Given the description of an element on the screen output the (x, y) to click on. 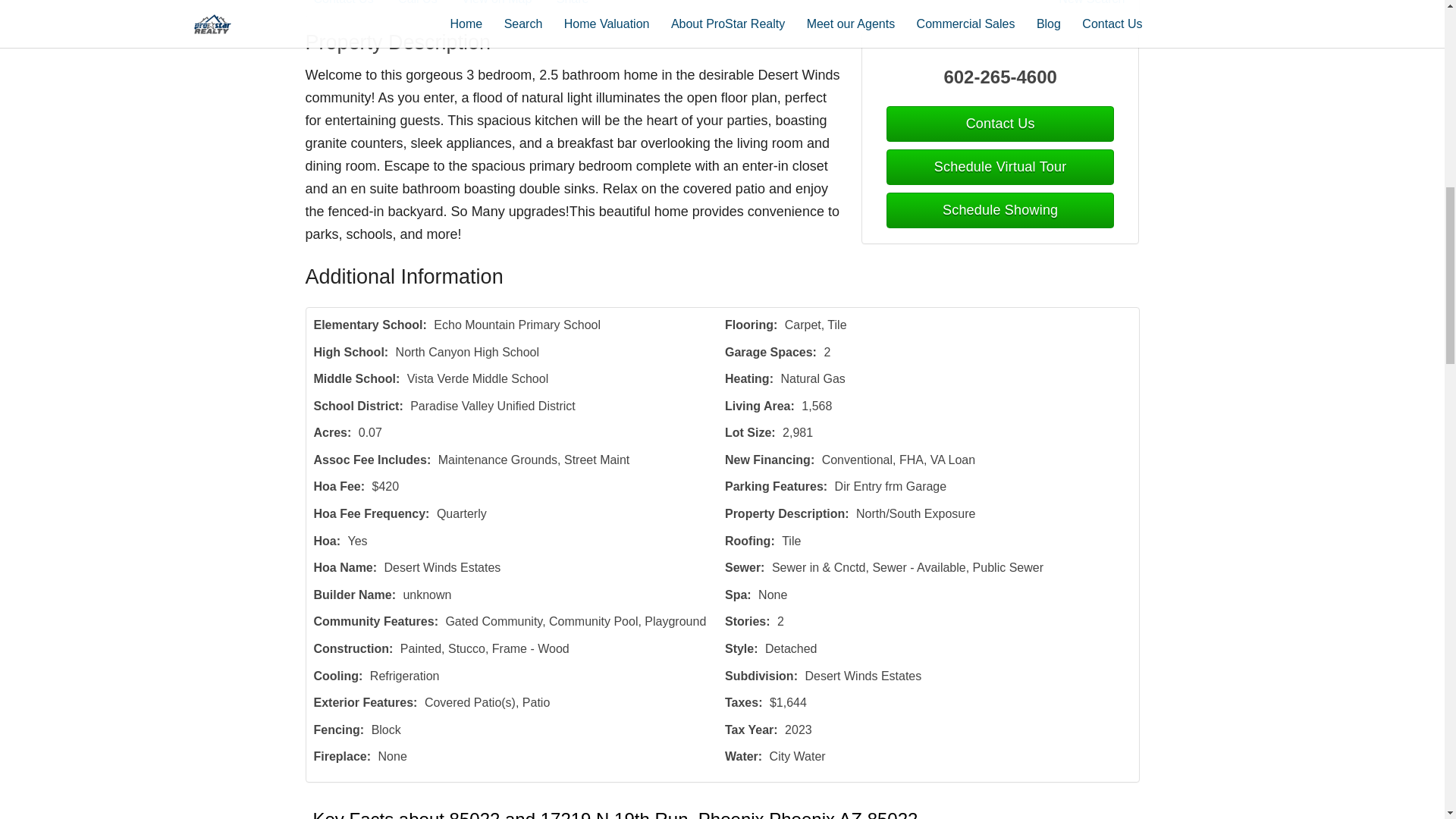
Contact Us (354, 5)
Share (583, 5)
Call Us (427, 5)
View on Map (507, 5)
New Search (1094, 5)
